Given the description of an element on the screen output the (x, y) to click on. 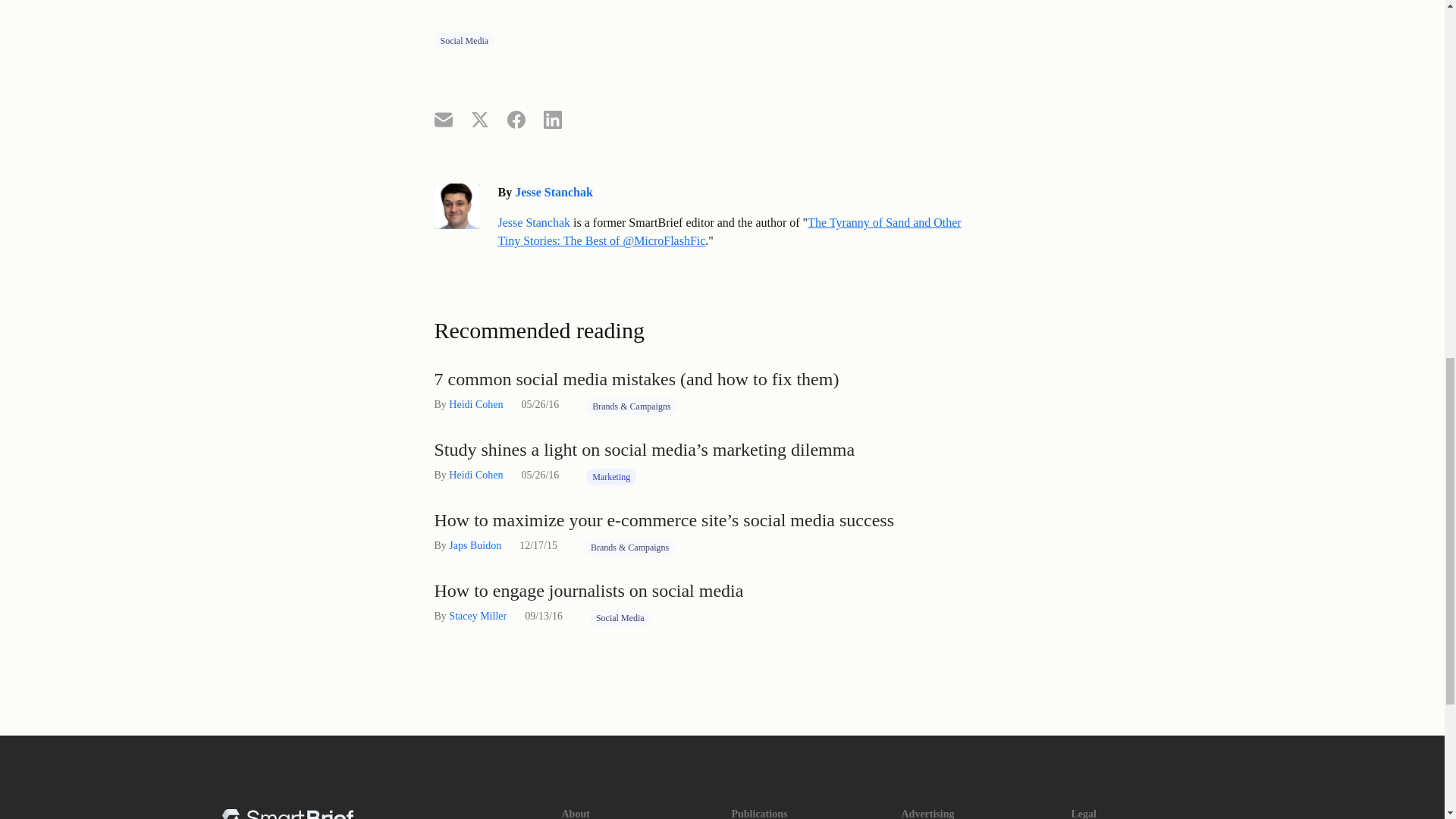
Share on LinkedIn (552, 118)
Share on Facebook (515, 118)
Jesse Stanchak (533, 222)
Share on Twitter (479, 118)
Jesse Stanchak (553, 192)
Social Media (464, 40)
Share via Email (443, 118)
